Given the description of an element on the screen output the (x, y) to click on. 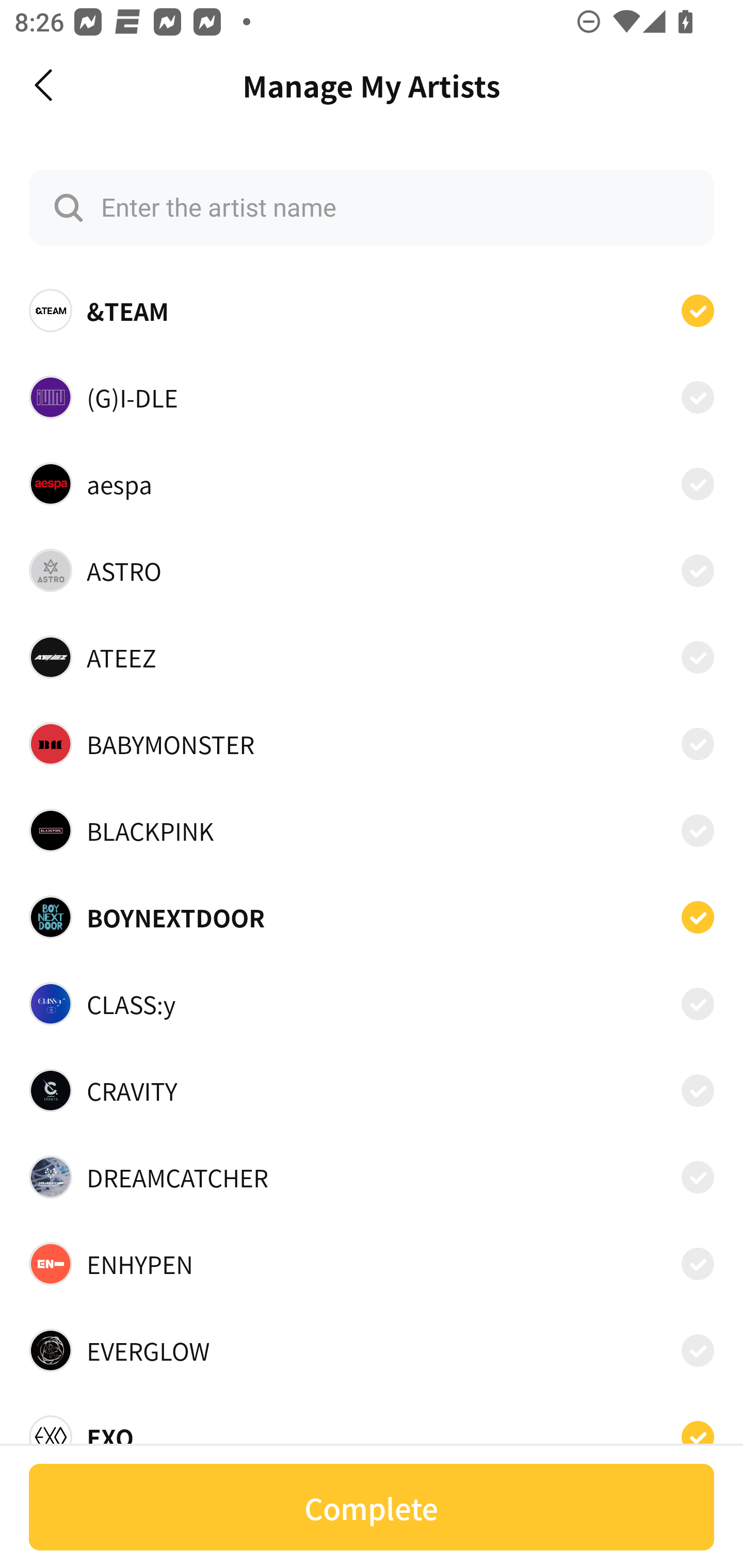
Enter the artist name (371, 207)
&TEAM (371, 310)
(G)I-DLE (371, 396)
aespa (371, 483)
ASTRO (371, 570)
ATEEZ (371, 656)
BABYMONSTER (371, 743)
BLACKPINK (371, 830)
BOYNEXTDOOR (371, 917)
CLASS:y (371, 1003)
CRAVITY (371, 1090)
DREAMCATCHER (371, 1176)
ENHYPEN (371, 1263)
EVERGLOW (371, 1350)
EXO (371, 1430)
Complete (371, 1507)
